Given the description of an element on the screen output the (x, y) to click on. 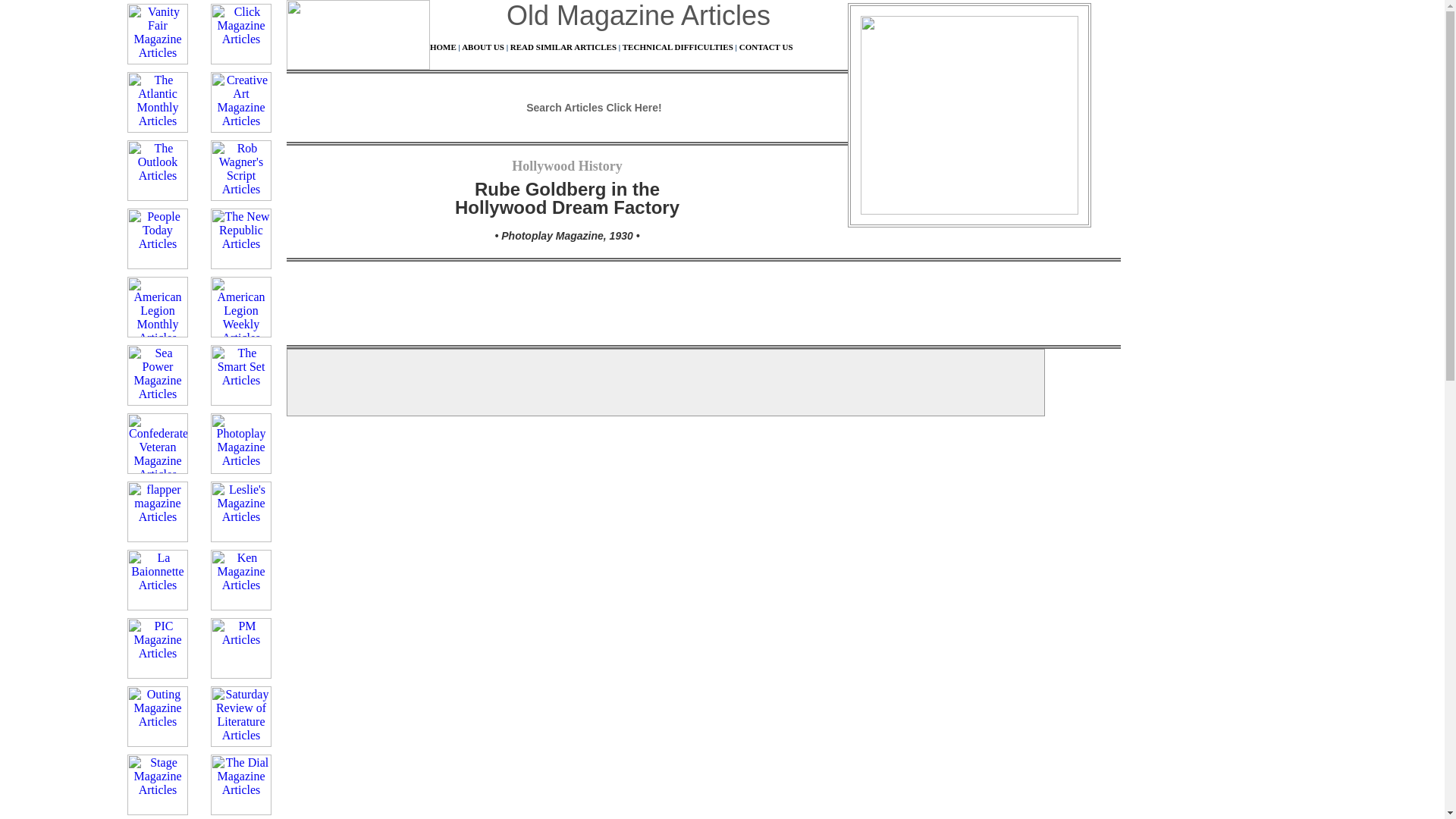
HOME (443, 46)
